Given the description of an element on the screen output the (x, y) to click on. 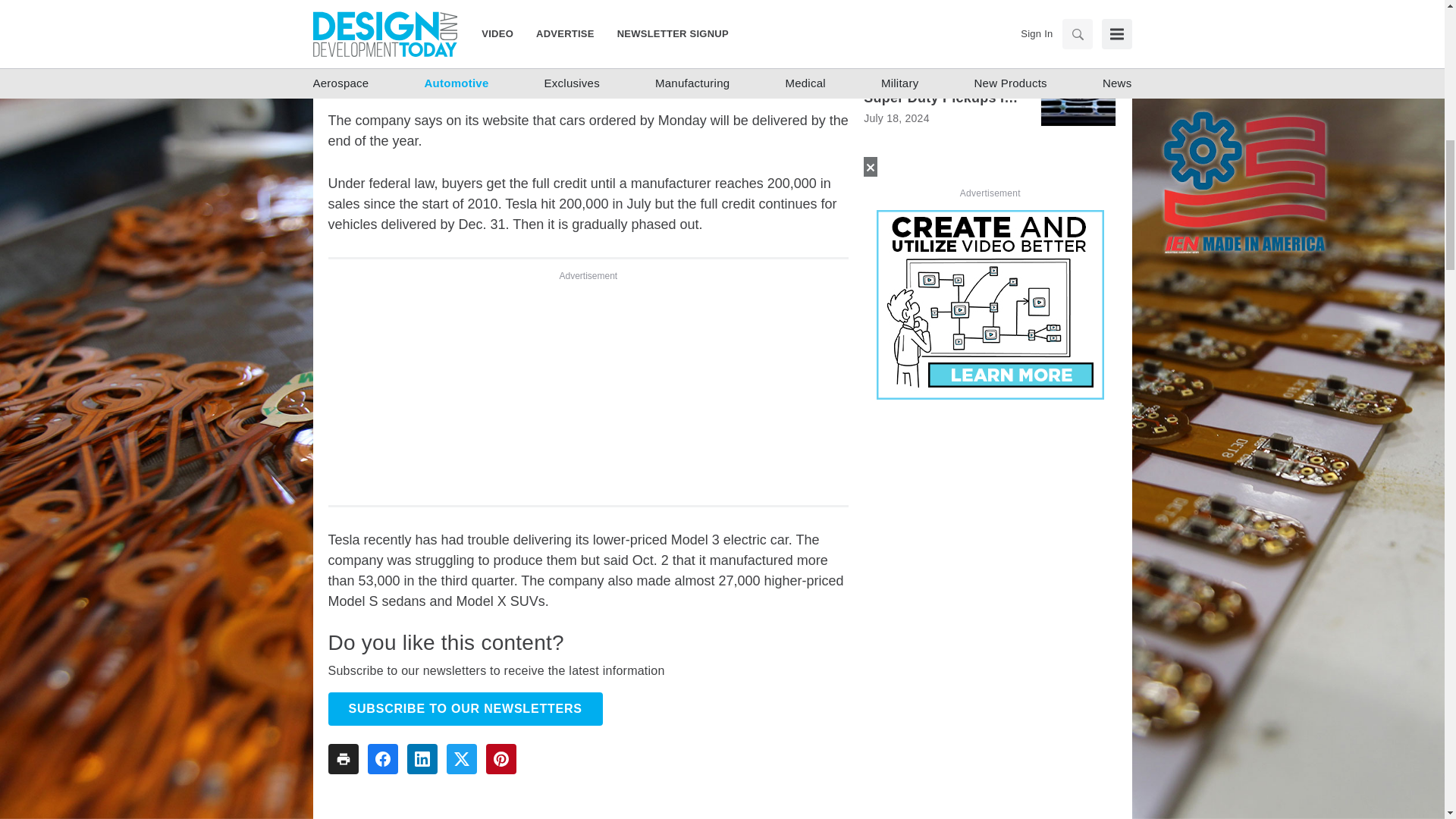
Share To facebook (381, 758)
Share To print (342, 758)
Share To pinterest (499, 758)
3rd party ad content (587, 387)
Share To linkedin (421, 758)
Share To twitter (460, 758)
CLICK HERE FOR MORE INFORMATION (989, 287)
